Given the description of an element on the screen output the (x, y) to click on. 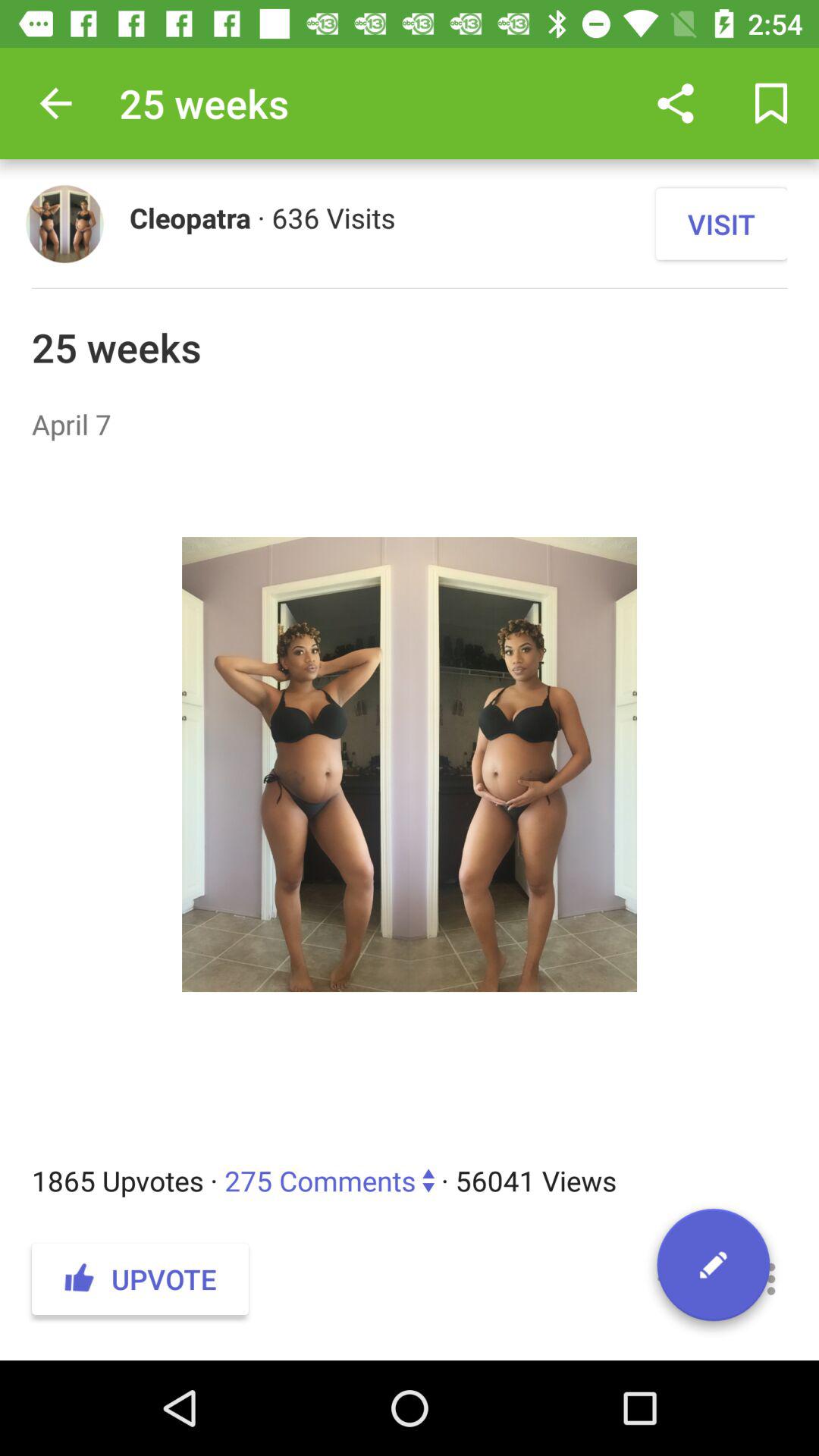
tap item below april 7 icon (409, 802)
